Given the description of an element on the screen output the (x, y) to click on. 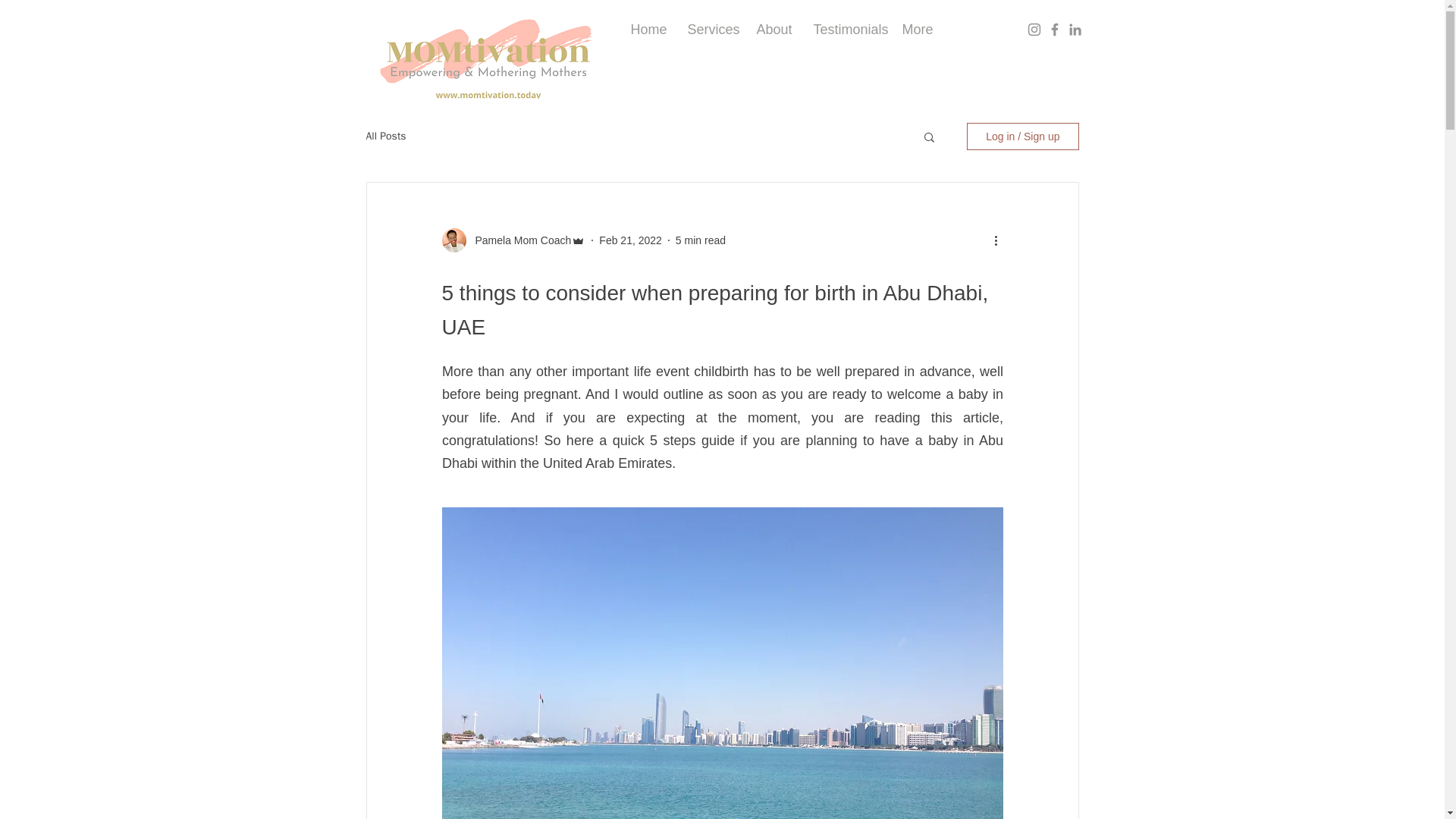
5 min read (700, 239)
Logo Momtivation.png (487, 51)
Services (711, 29)
Testimonials (846, 29)
Pamela Mom Coach (517, 239)
Feb 21, 2022 (630, 239)
About (773, 29)
All Posts (385, 136)
Home (646, 29)
